Given the description of an element on the screen output the (x, y) to click on. 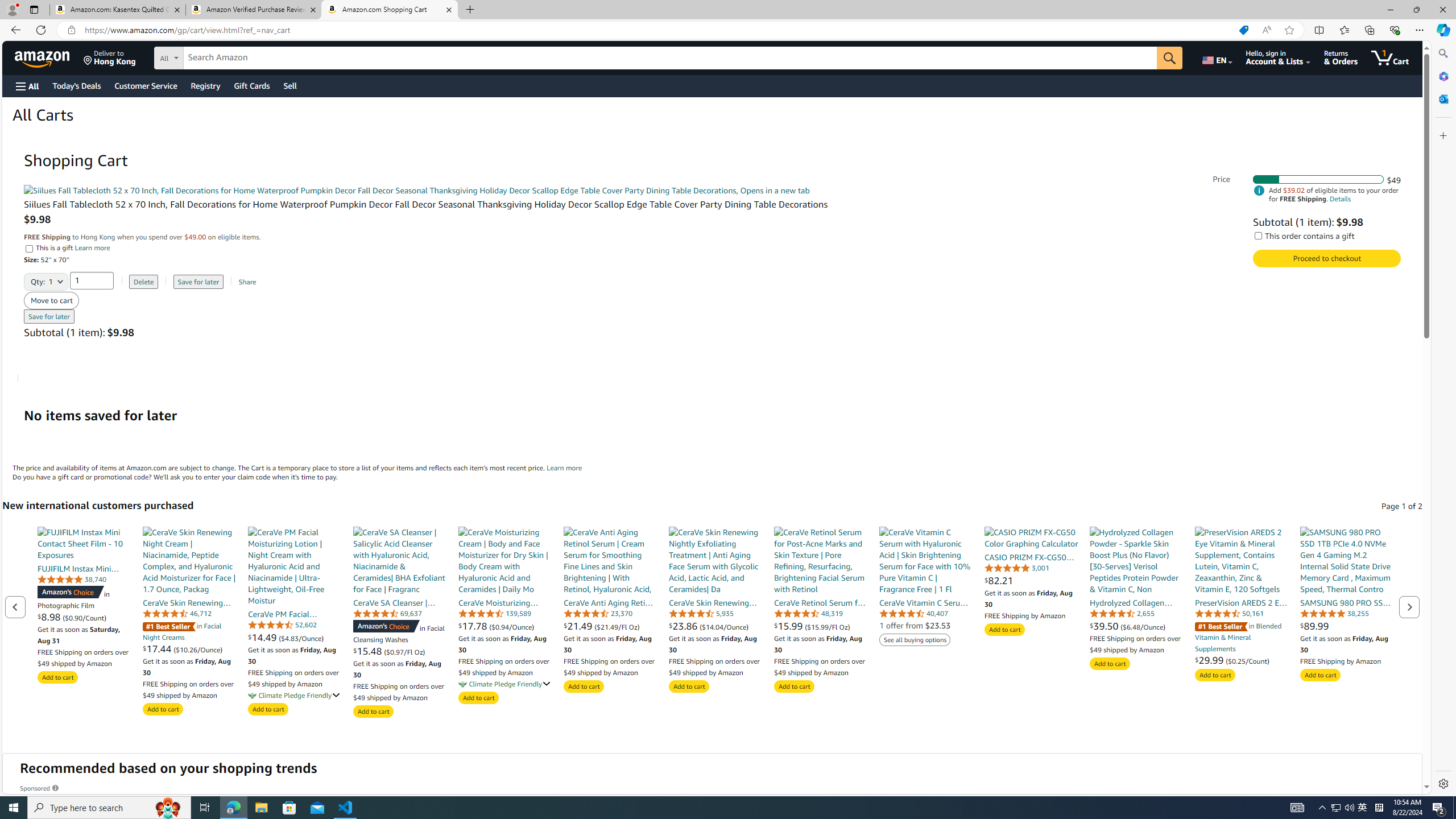
Amazon Verified Purchase Reviews - Amazon Customer Service (253, 9)
$89.99 (1346, 625)
See all buying options (914, 639)
$21.49  (579, 625)
Amazon.com Shopping Cart (390, 9)
Previous page (15, 606)
($4.83/Ounce) (301, 637)
